Given the description of an element on the screen output the (x, y) to click on. 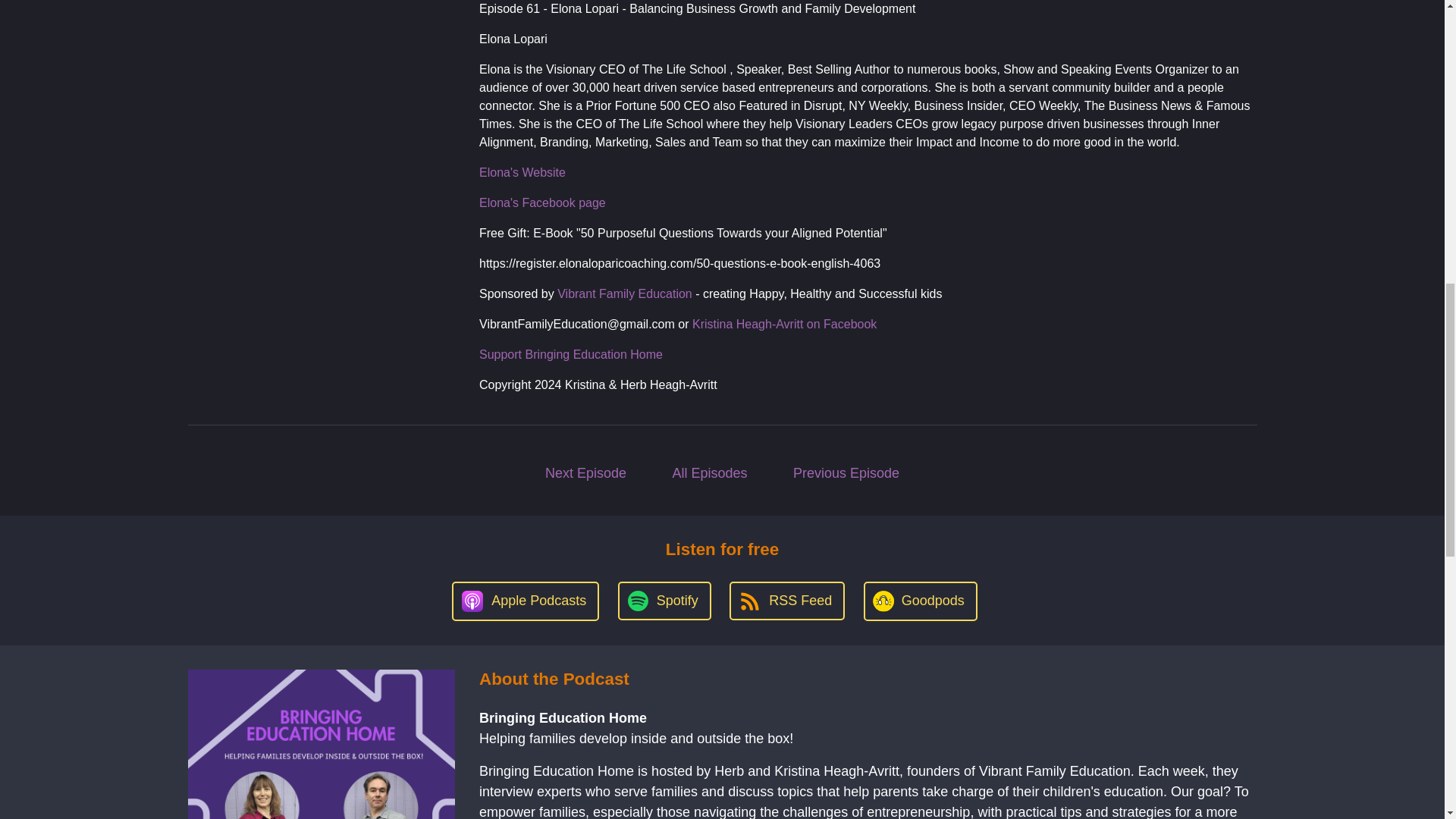
Next Episode (585, 473)
Apple Podcasts (524, 600)
Previous Episode (845, 473)
Spotify (664, 600)
All Episodes (709, 473)
Goodpods (919, 600)
Vibrant Family Education (625, 293)
Elona's Website (522, 172)
RSS Feed (786, 600)
Support Bringing Education Home (570, 354)
Elona's Facebook page (542, 202)
Kristina Heagh-Avritt on Facebook (784, 323)
